Given the description of an element on the screen output the (x, y) to click on. 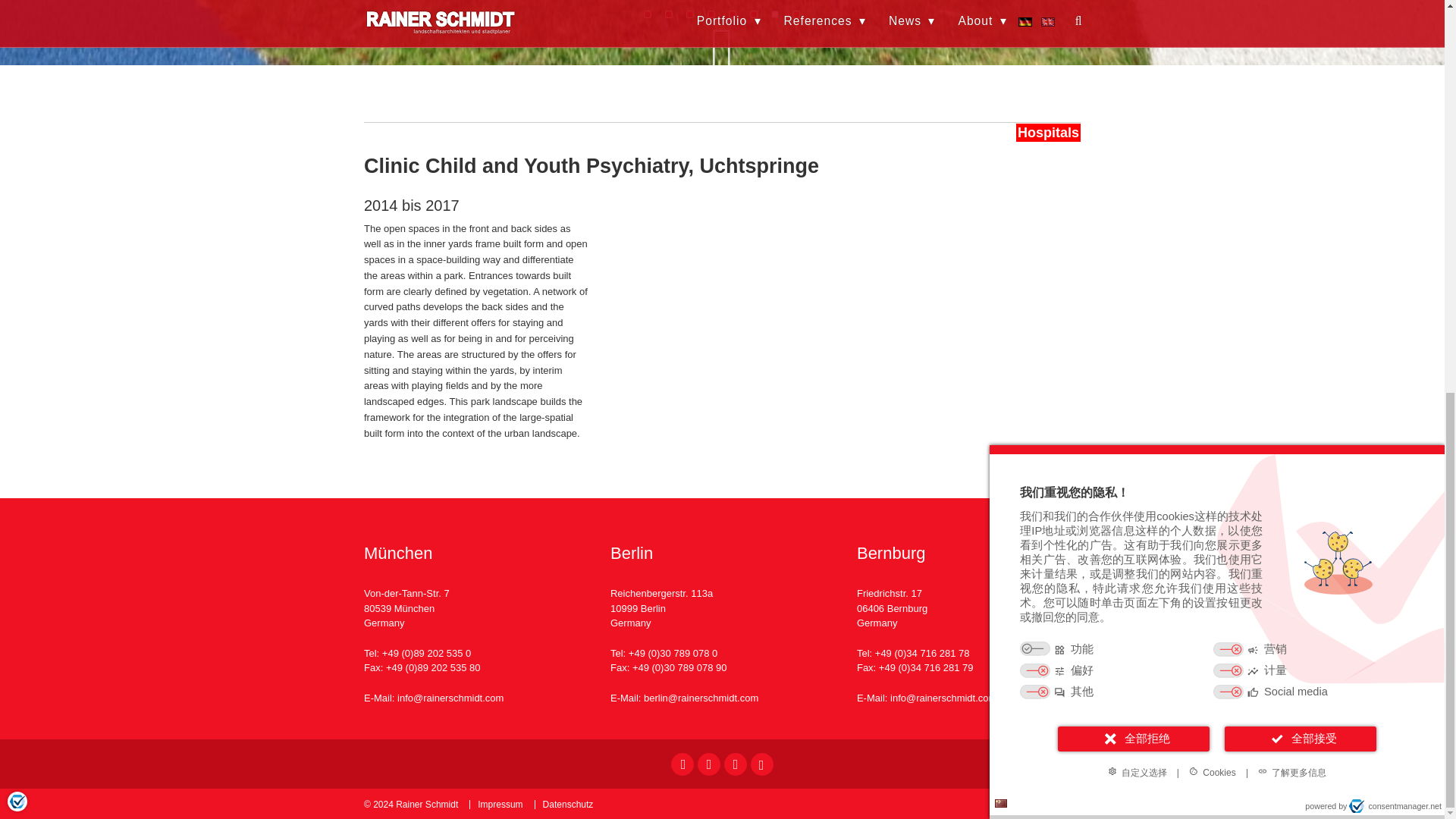
Language: zh (1000, 49)
Language: zh (1000, 49)
Cookies (1211, 17)
consentmanager.net (1395, 52)
